Given the description of an element on the screen output the (x, y) to click on. 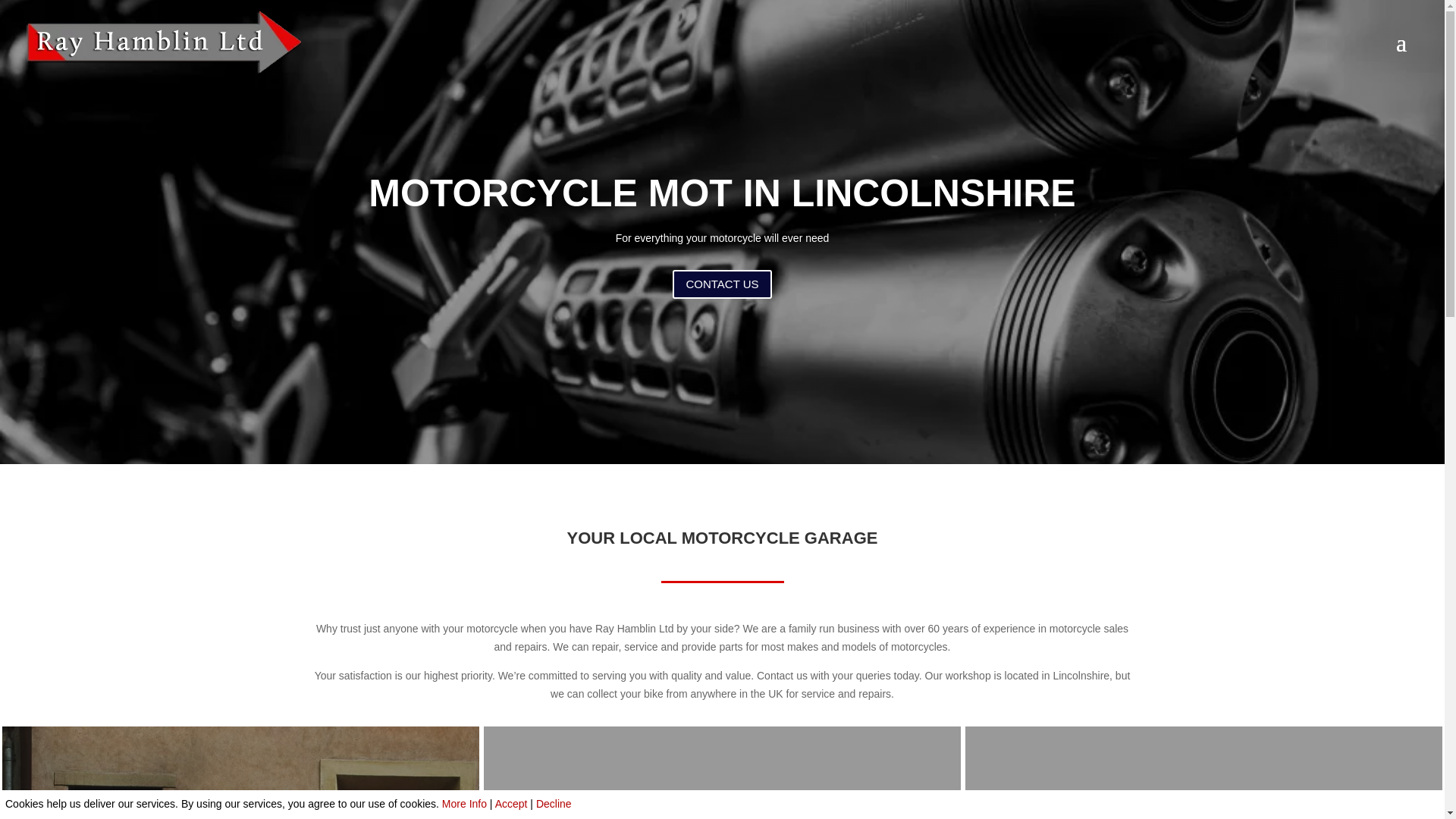
Accept (511, 803)
More Info (464, 803)
CONTACT US (721, 284)
Decline (553, 803)
